Given the description of an element on the screen output the (x, y) to click on. 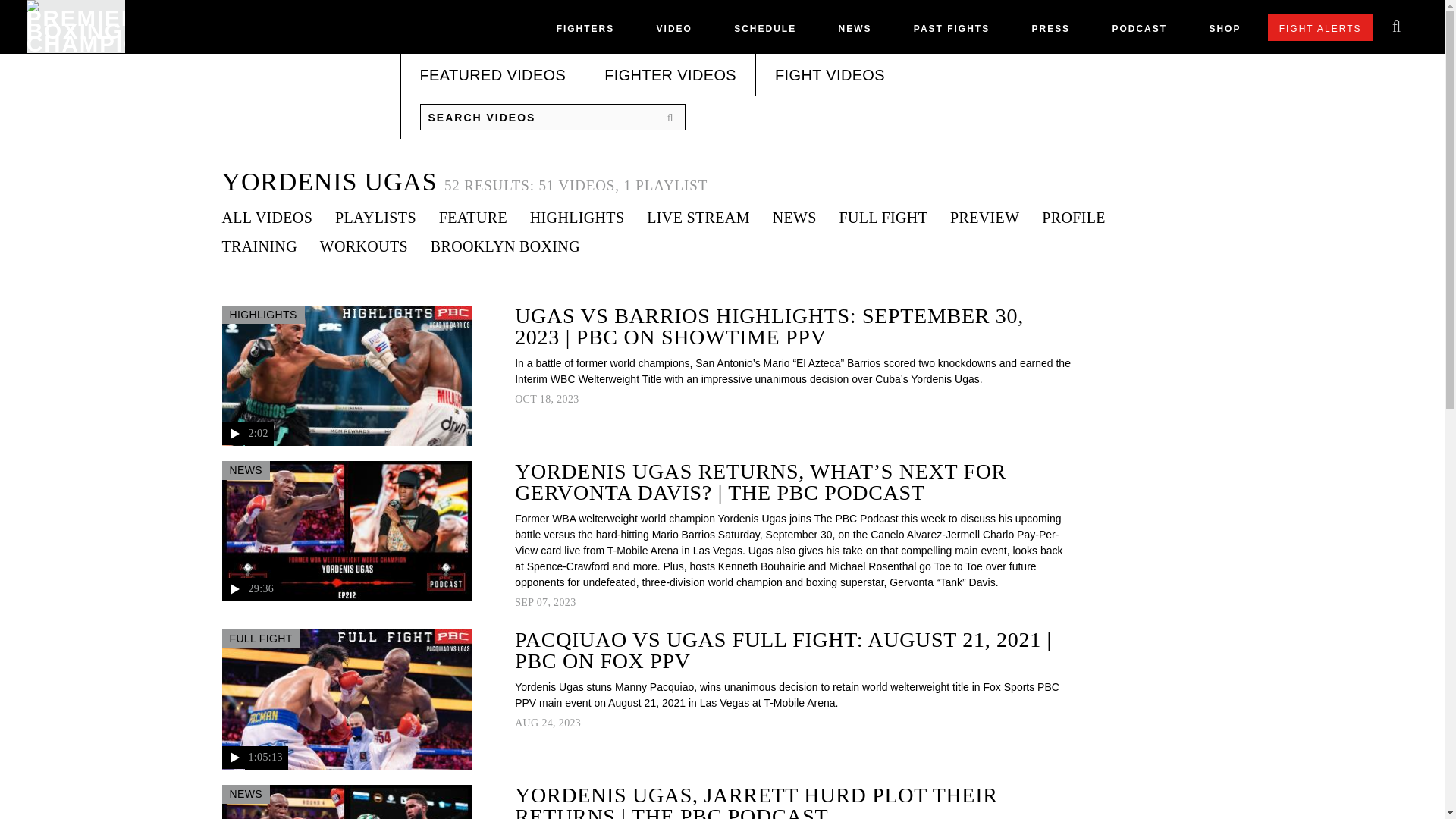
PRESS (1050, 31)
FEATURED VIDEOS (492, 75)
August (526, 722)
October (526, 398)
VIDEO (674, 31)
FIGHT VIDEOS (829, 75)
SCHEDULE (764, 31)
FIGHTERS (585, 31)
Search (673, 117)
PODCAST (1139, 31)
